Given the description of an element on the screen output the (x, y) to click on. 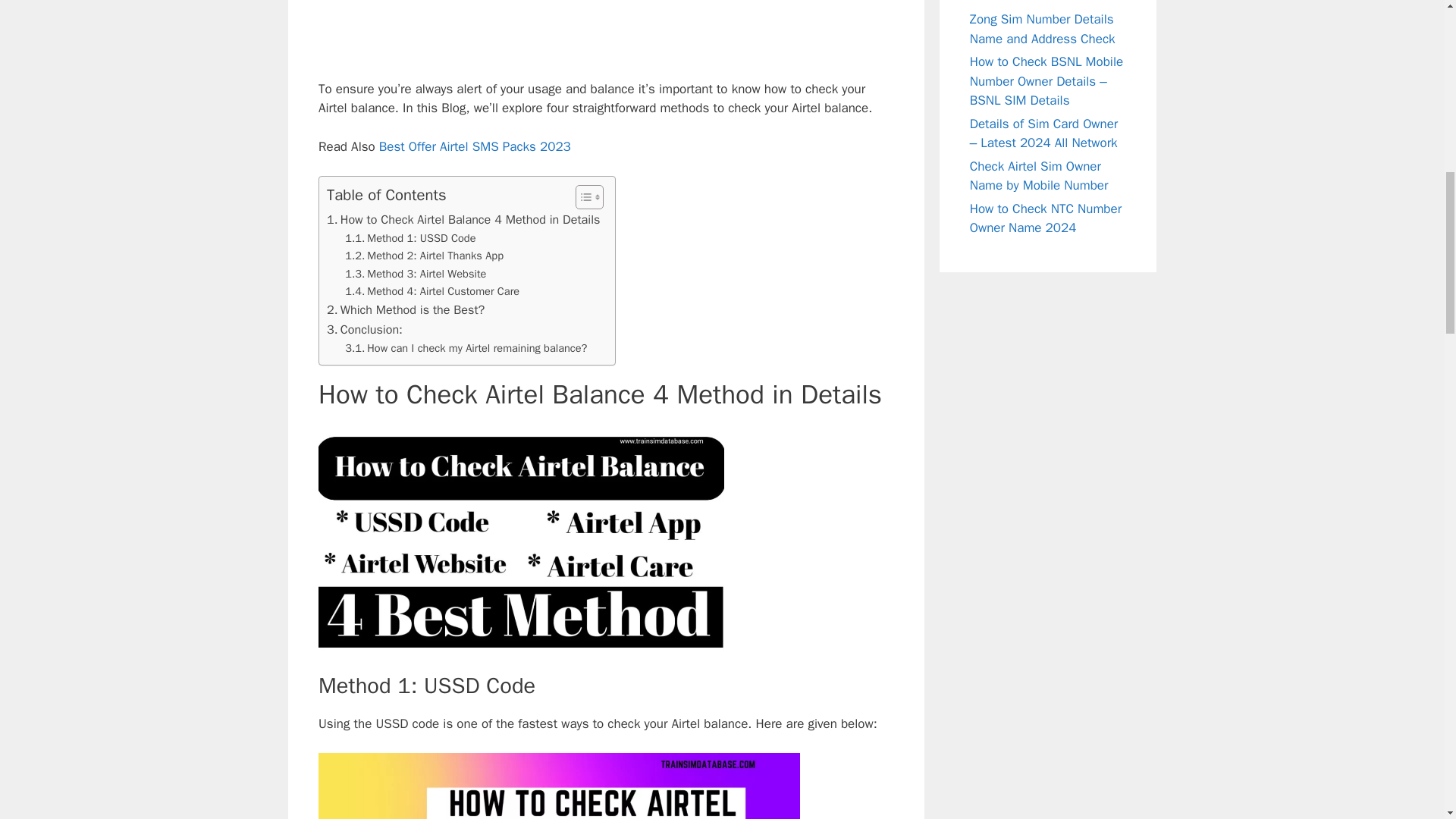
Method 1: USSD Code (410, 238)
Conclusion: (364, 329)
Which Method is the Best? (405, 310)
Advertisement (608, 36)
How can I check my Airtel remaining balance? (465, 348)
Method 2: Airtel Thanks App (424, 255)
Method 4: Airtel Customer Care (432, 291)
Method 3: Airtel Website (415, 273)
How to Check Airtel Balance 4 Method in Details (462, 219)
